Given the description of an element on the screen output the (x, y) to click on. 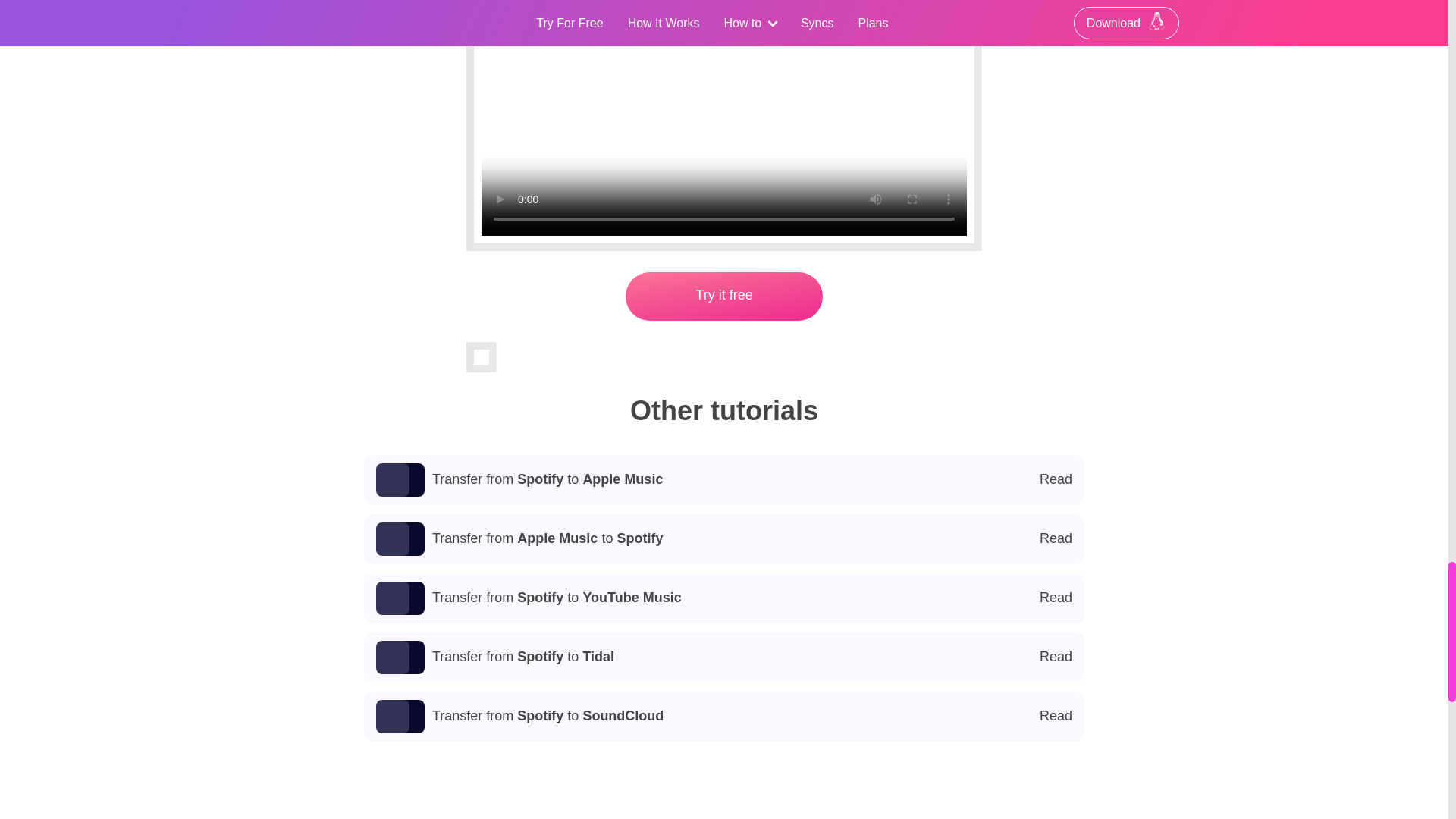
Try it free (724, 657)
